Given the description of an element on the screen output the (x, y) to click on. 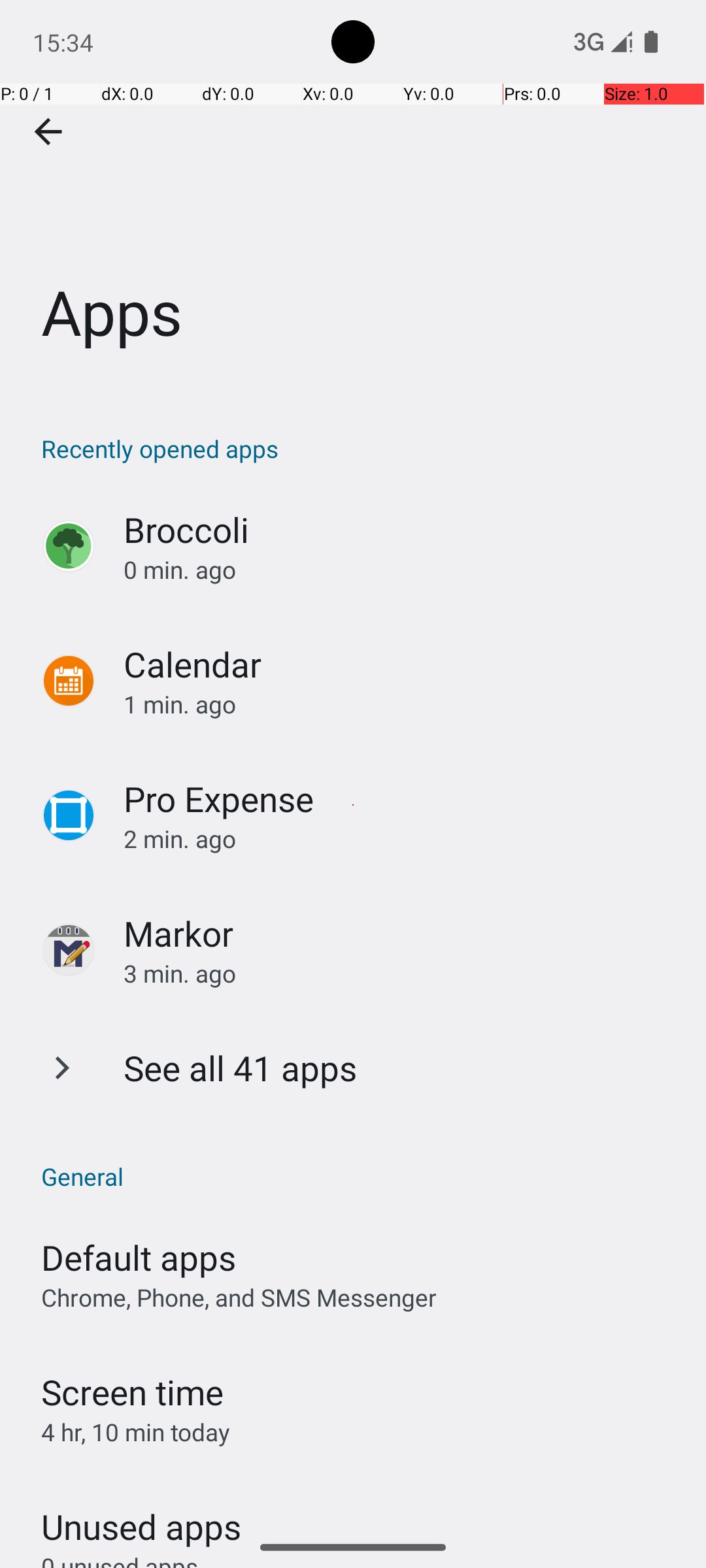
Recently opened apps Element type: android.widget.TextView (359, 448)
0 min. ago Element type: android.widget.TextView (400, 569)
1 min. ago Element type: android.widget.TextView (400, 703)
2 min. ago Element type: android.widget.TextView (400, 838)
3 min. ago Element type: android.widget.TextView (400, 972)
See all 41 apps Element type: android.widget.TextView (239, 1067)
Default apps Element type: android.widget.TextView (138, 1257)
Chrome, Phone, and SMS Messenger Element type: android.widget.TextView (238, 1296)
4 hr, 10 min today Element type: android.widget.TextView (135, 1431)
Unused apps Element type: android.widget.TextView (141, 1514)
